Given the description of an element on the screen output the (x, y) to click on. 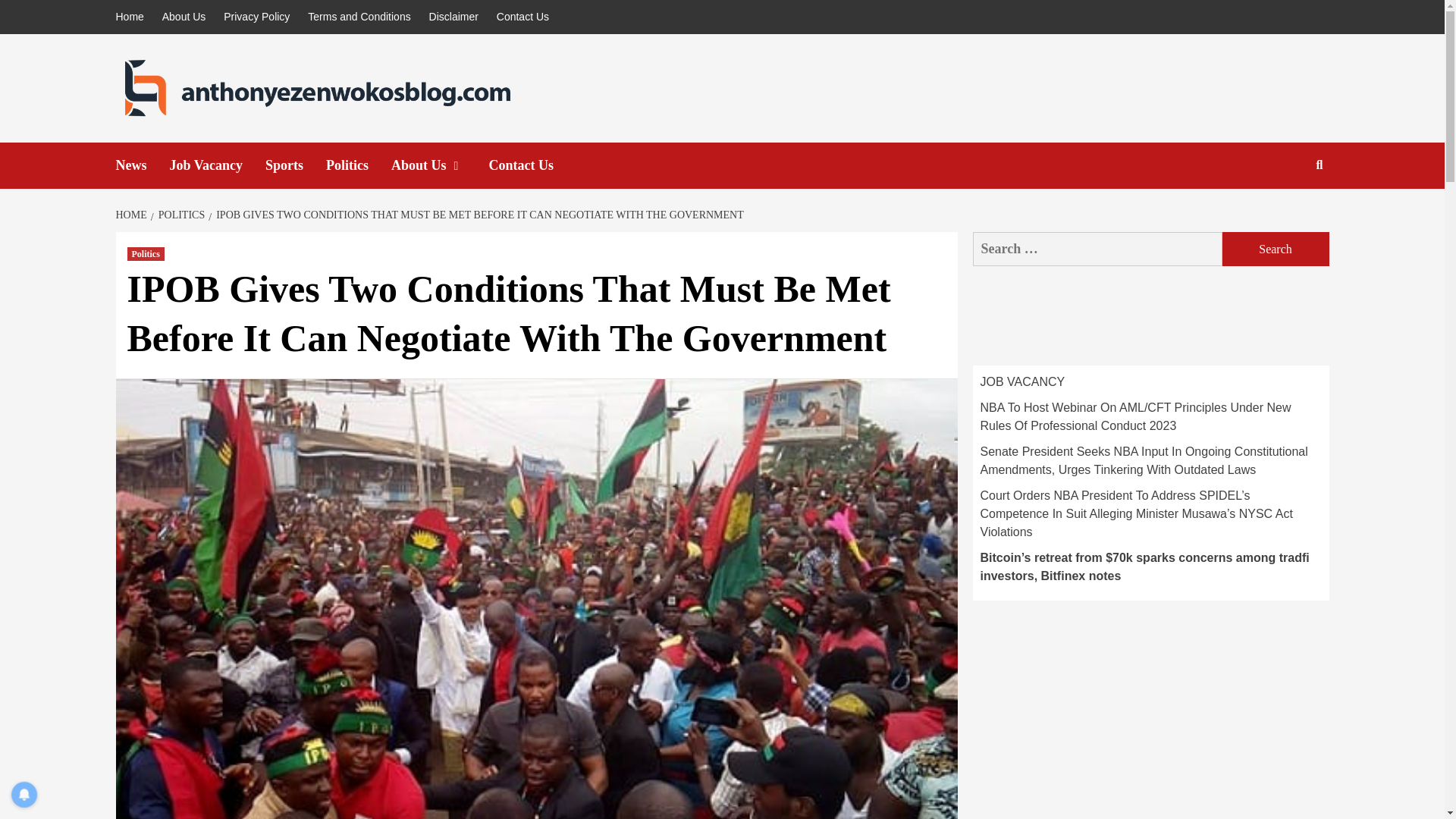
Home (133, 17)
Sports (295, 165)
Disclaimer (454, 17)
Job Vacancy (218, 165)
Search (1283, 213)
Terms and Conditions (358, 17)
About Us (184, 17)
Contact Us (531, 165)
Politics (146, 254)
HOME (132, 214)
Search (1276, 248)
POLITICS (179, 214)
Politics (358, 165)
About Us (439, 165)
